Given the description of an element on the screen output the (x, y) to click on. 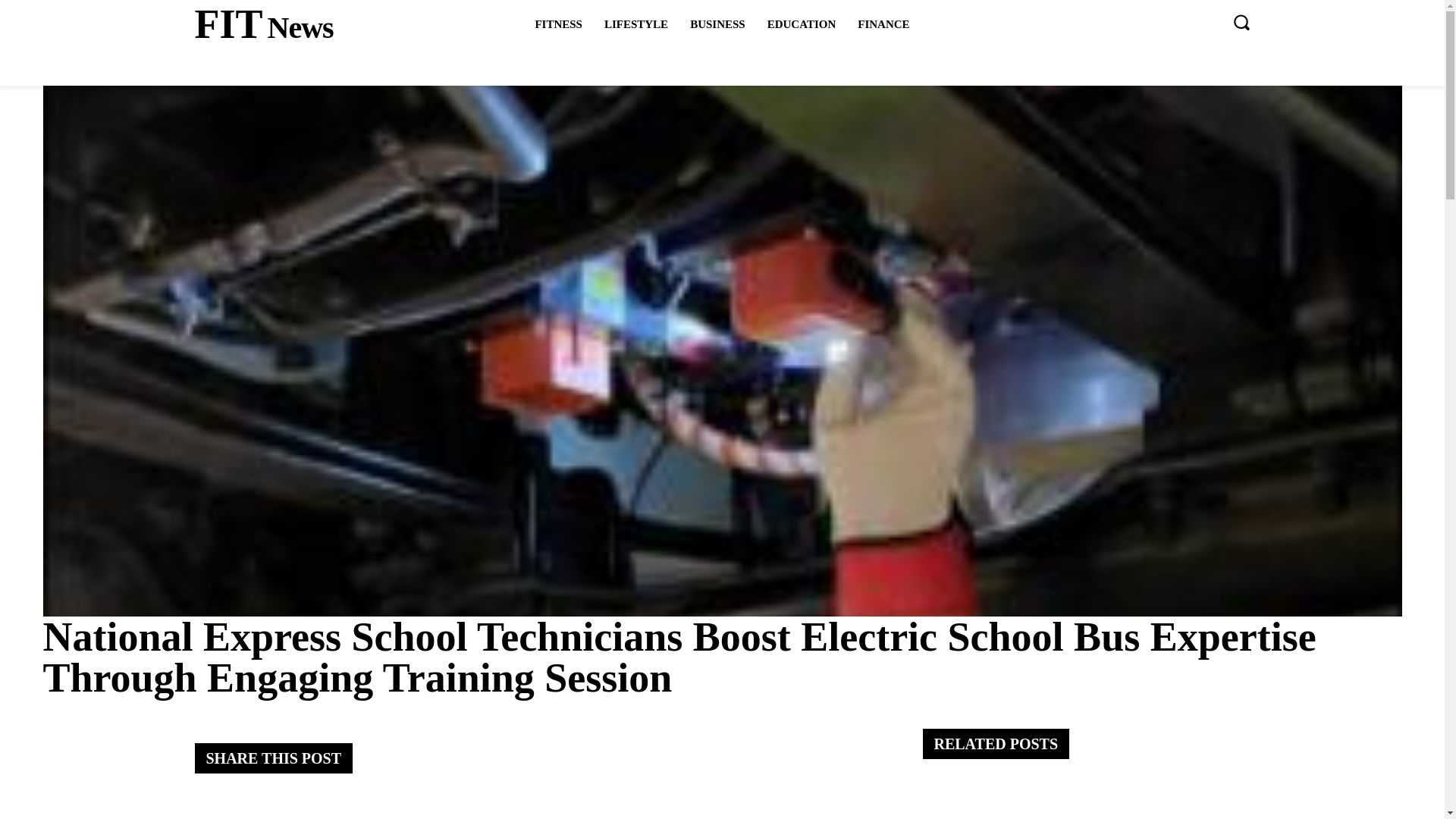
BUSINESS (263, 24)
EDUCATION (717, 24)
FINANCE (801, 24)
FITNESS (883, 24)
LIFESTYLE (558, 24)
